Given the description of an element on the screen output the (x, y) to click on. 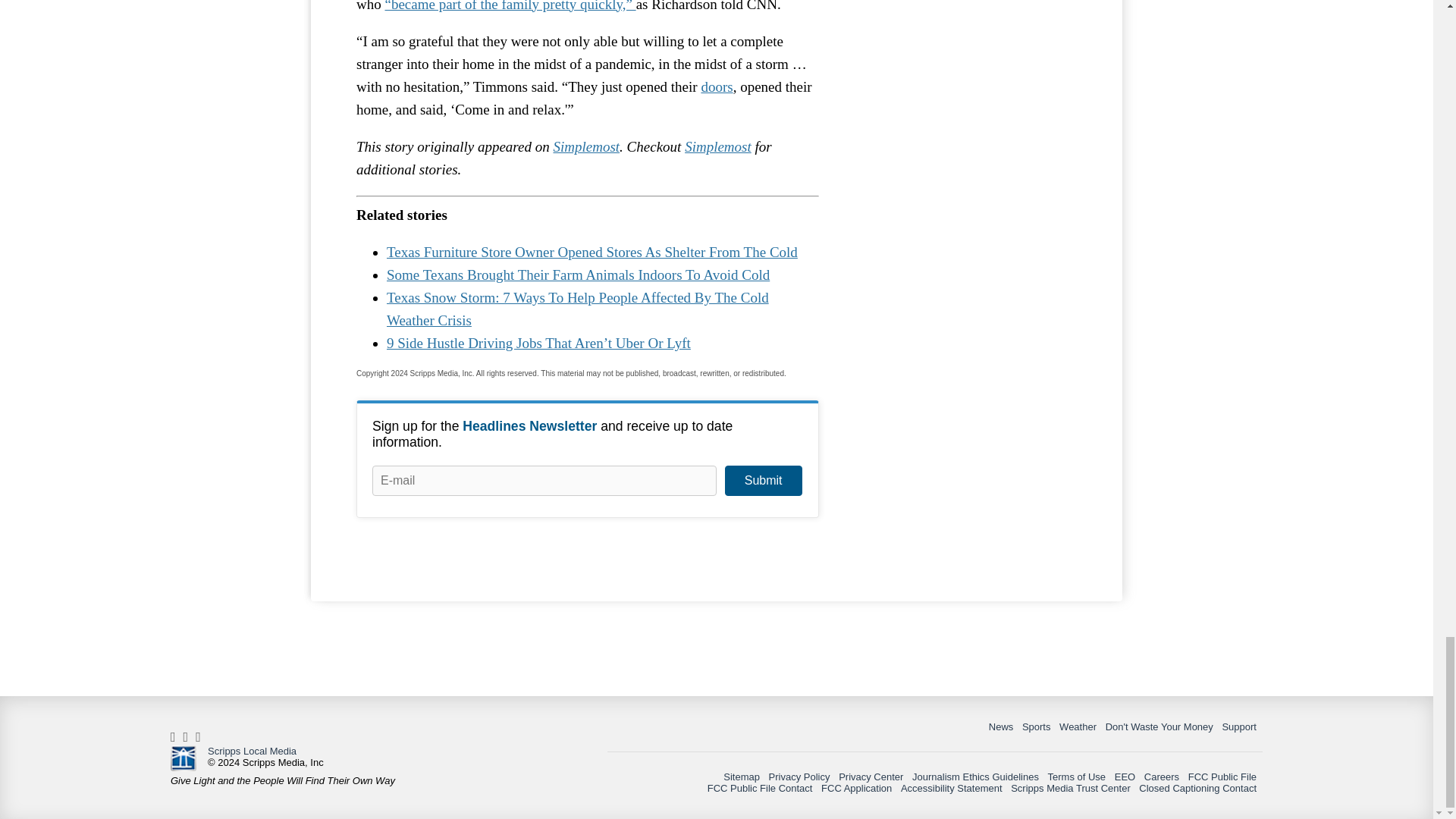
Submit (763, 481)
